Given the description of an element on the screen output the (x, y) to click on. 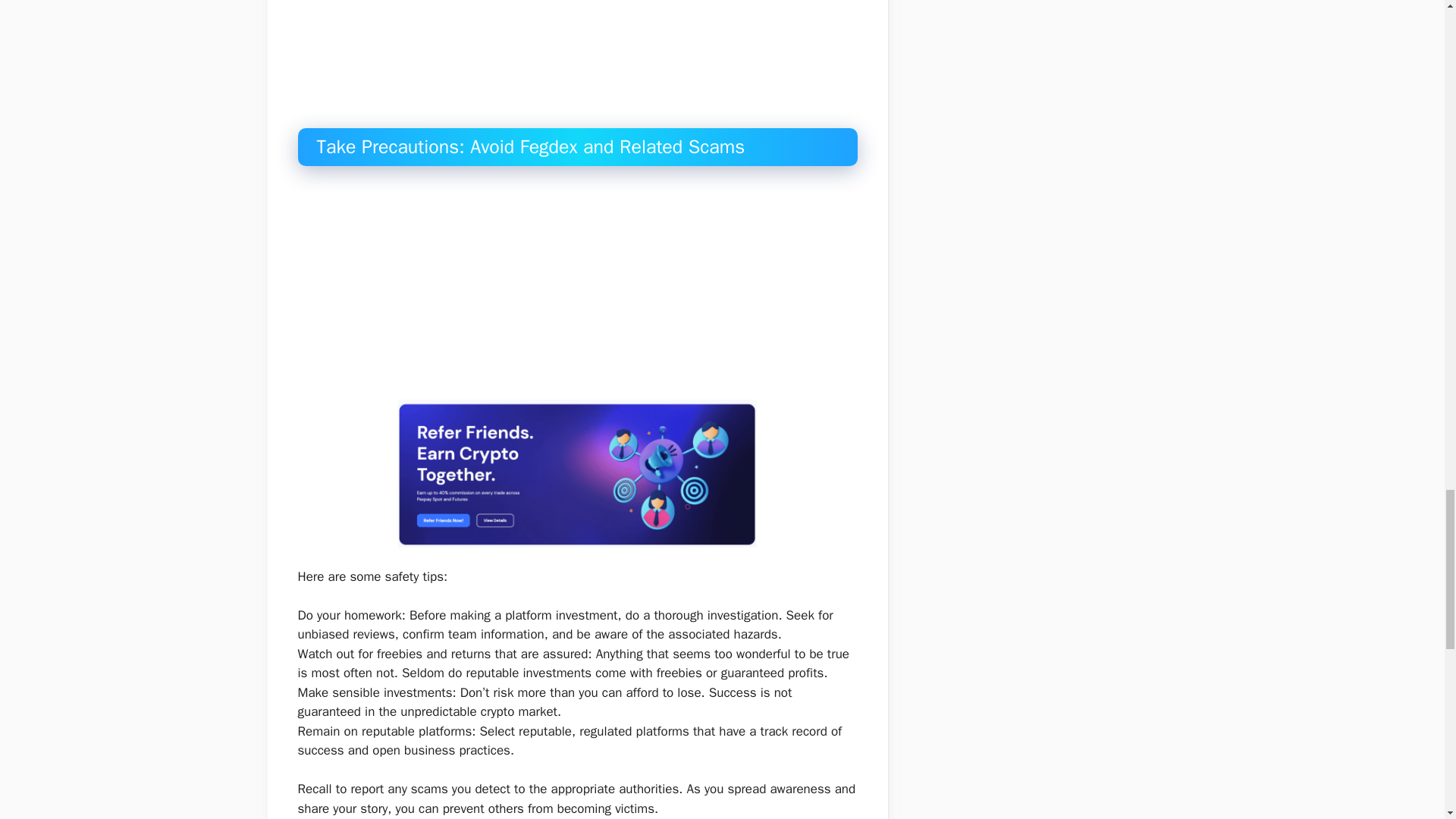
Advertisement (589, 286)
Advertisement (589, 63)
